Given the description of an element on the screen output the (x, y) to click on. 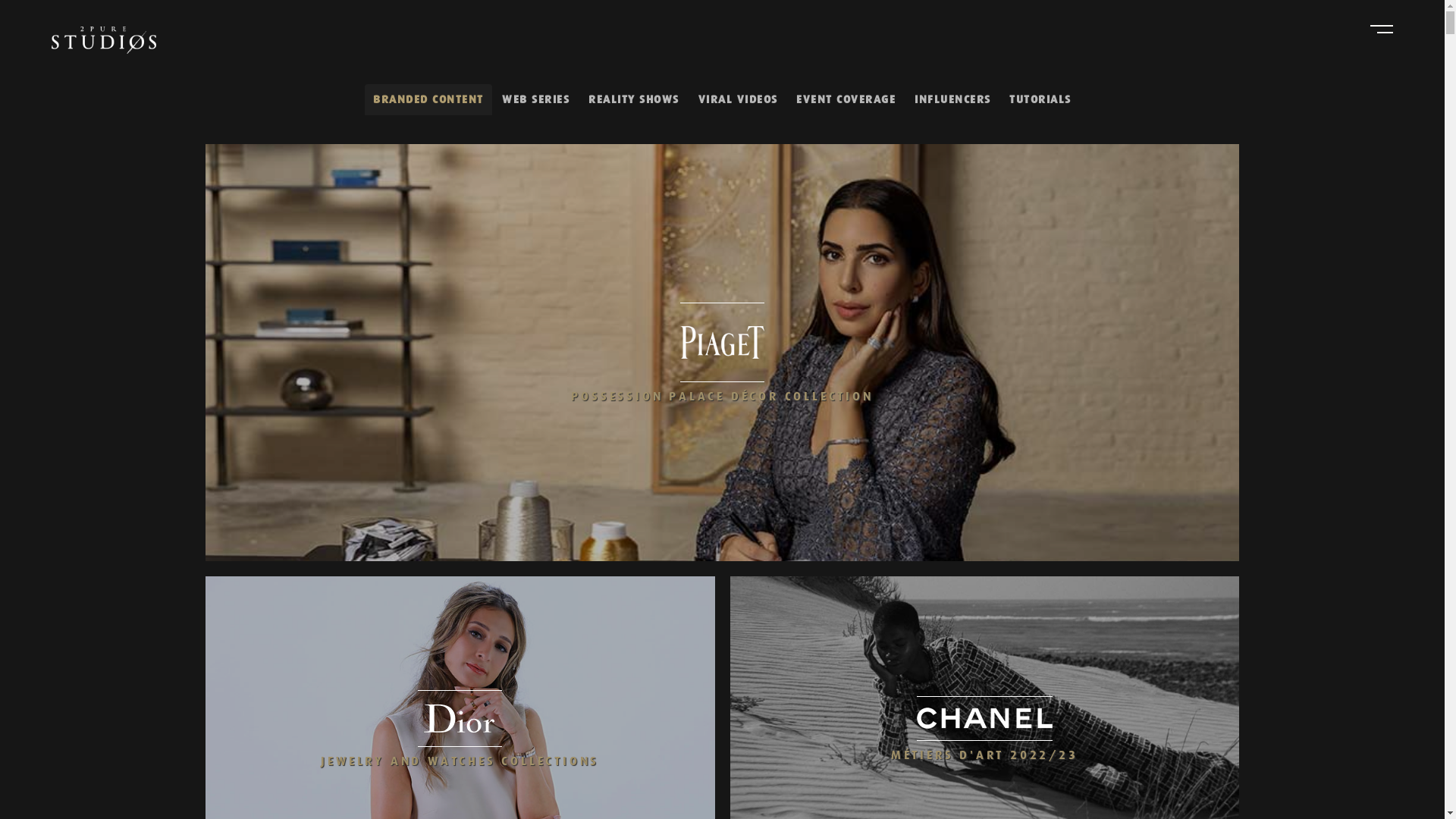
BRANDED CONTENT Element type: text (428, 99)
VIRAL VIDEOS Element type: text (738, 99)
Watch video Element type: hover (984, 729)
REALITY SHOWS Element type: text (633, 99)
Watch video Element type: hover (460, 728)
TUTORIALS Element type: text (1040, 99)
INFLUENCERS Element type: text (952, 99)
WEB SERIES Element type: text (535, 99)
Watch video Element type: hover (722, 352)
EVENT COVERAGE Element type: text (845, 99)
